Given the description of an element on the screen output the (x, y) to click on. 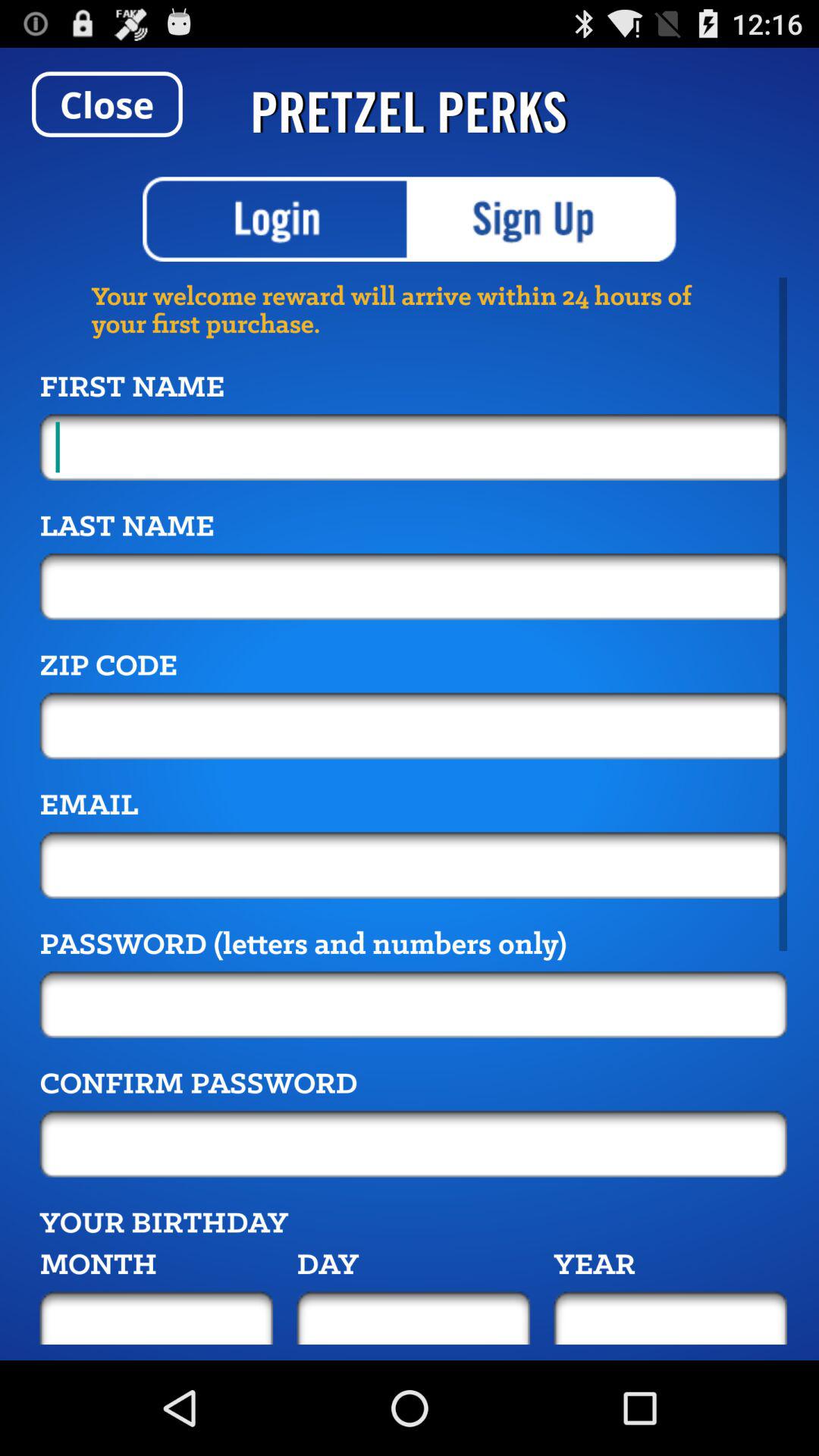
confirm password (413, 1143)
